Given the description of an element on the screen output the (x, y) to click on. 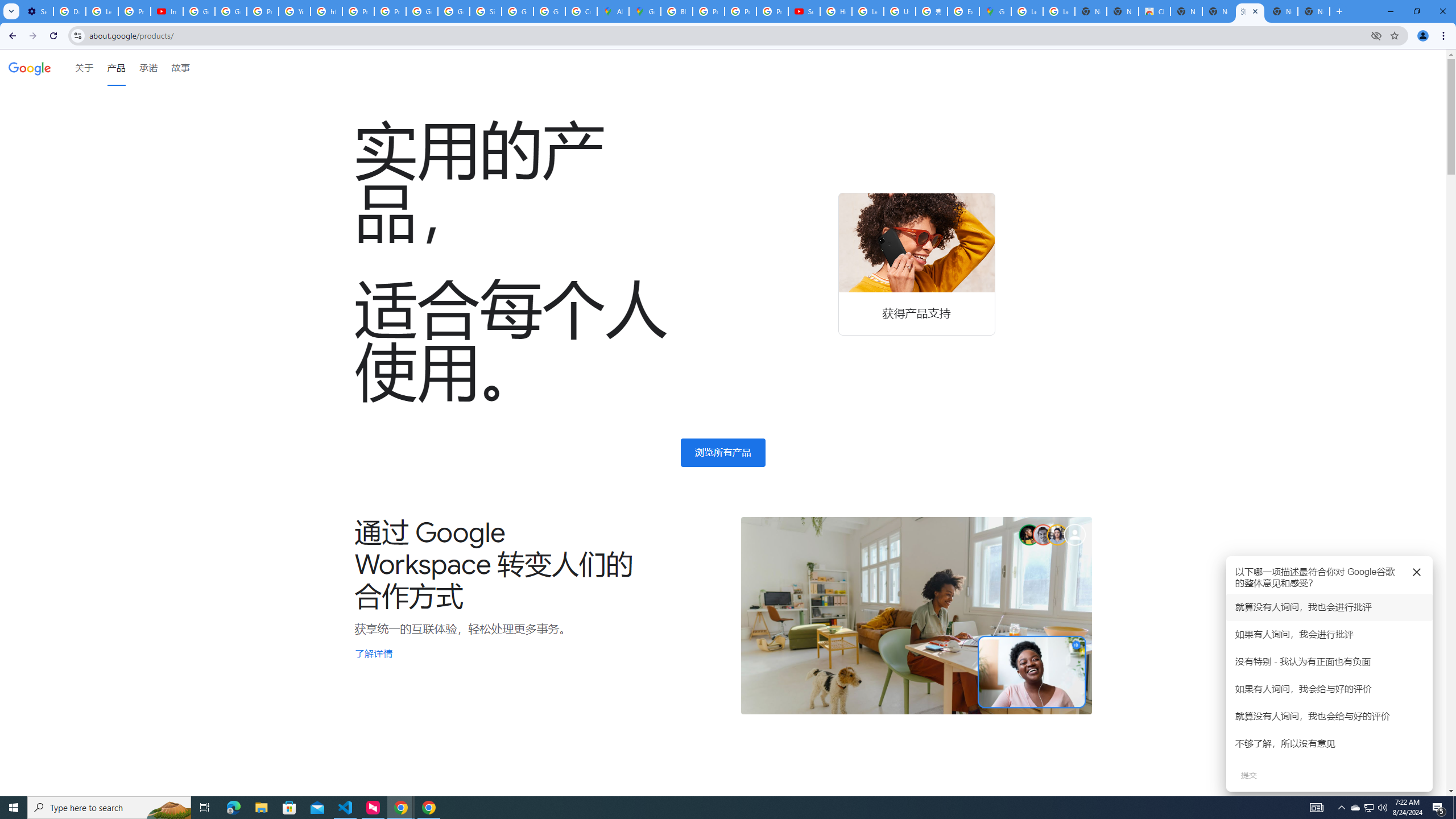
New Tab (1313, 11)
Subscriptions - YouTube (804, 11)
